Given the description of an element on the screen output the (x, y) to click on. 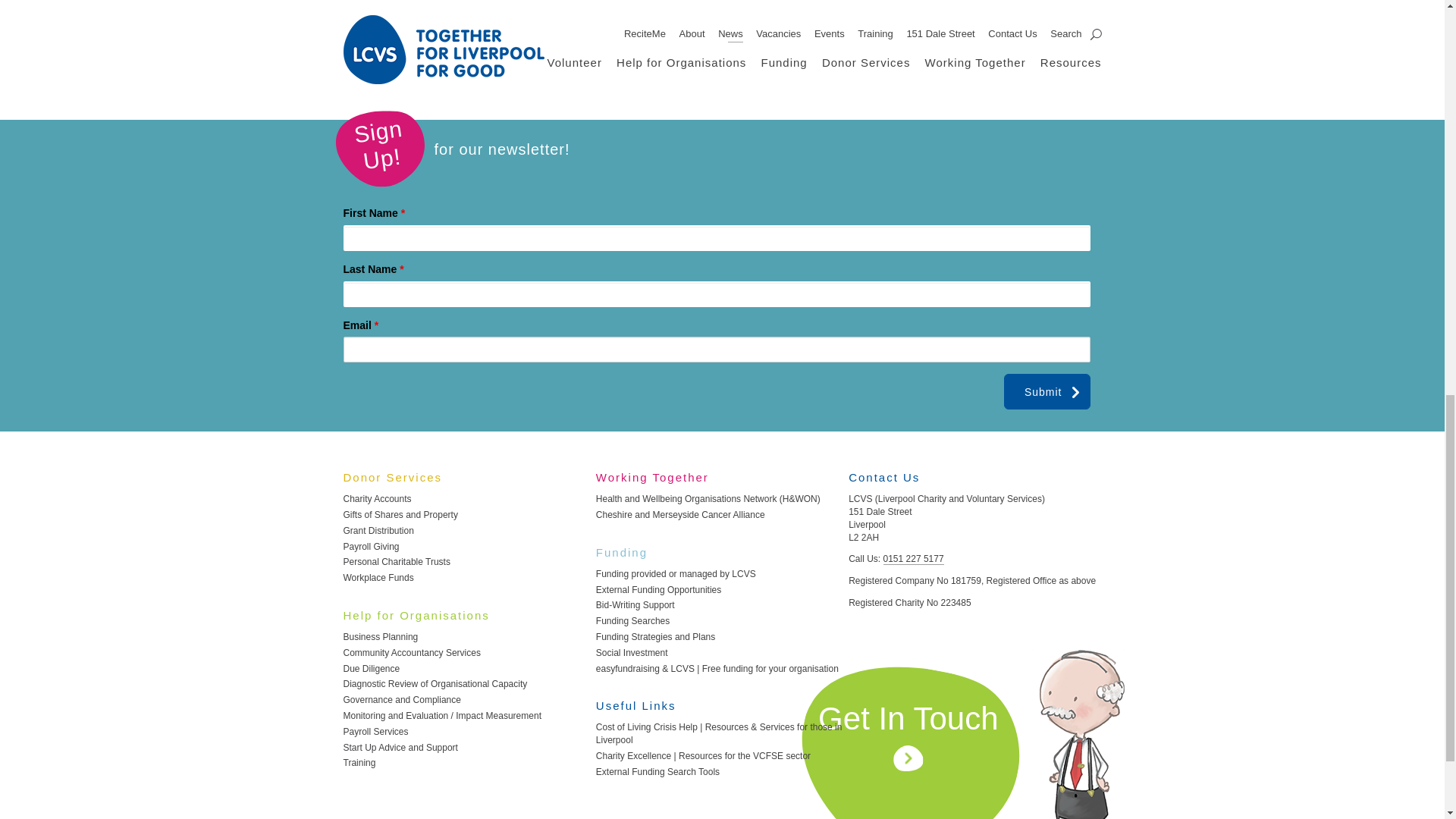
Submit (1047, 391)
